Given the description of an element on the screen output the (x, y) to click on. 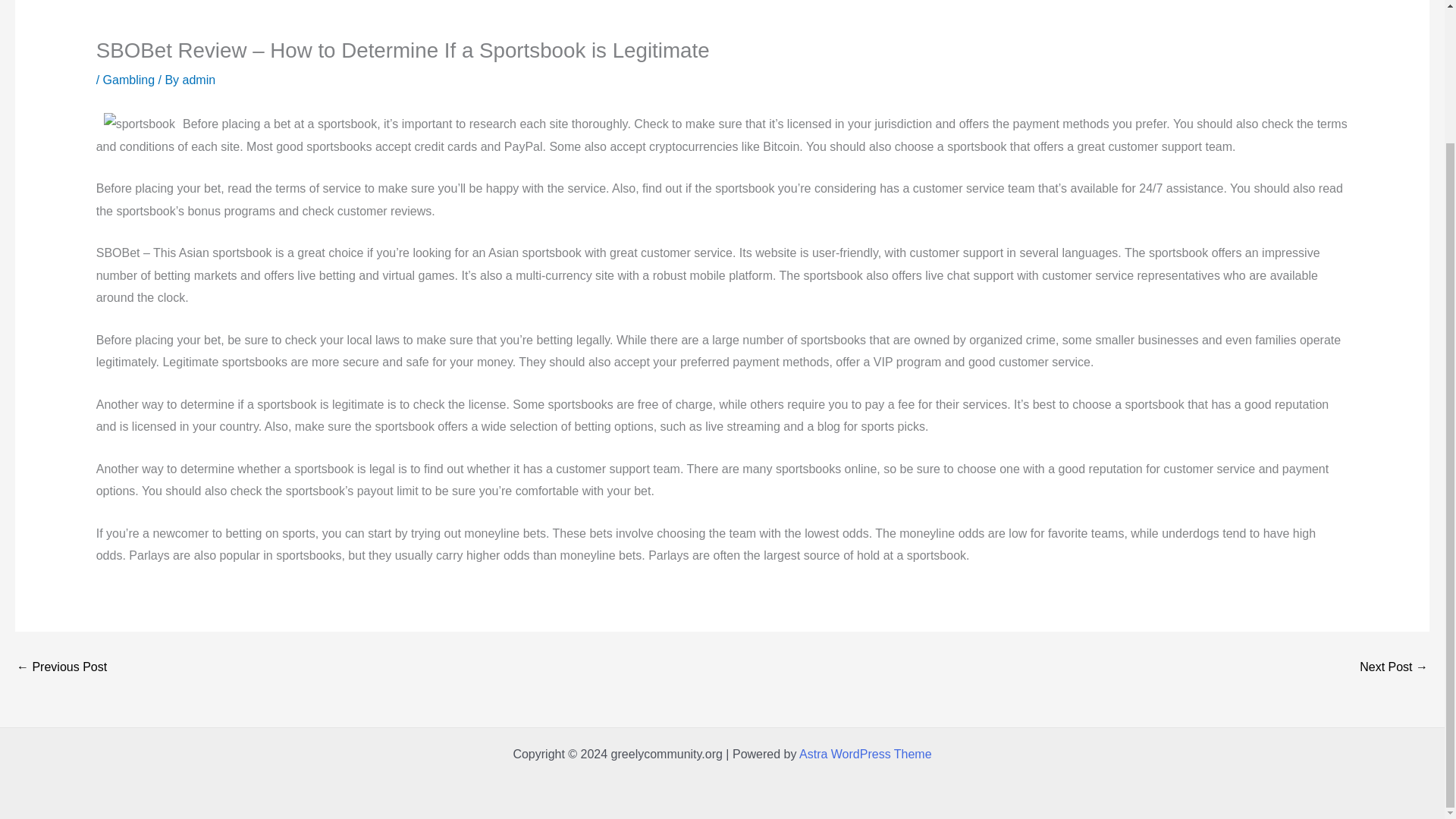
How to Play the Lottery Online in New York (61, 666)
admin (199, 79)
Gambling (128, 79)
View all posts by admin (199, 79)
Astra WordPress Theme (865, 753)
Pragmatic Play Slot Review (1393, 666)
